Given the description of an element on the screen output the (x, y) to click on. 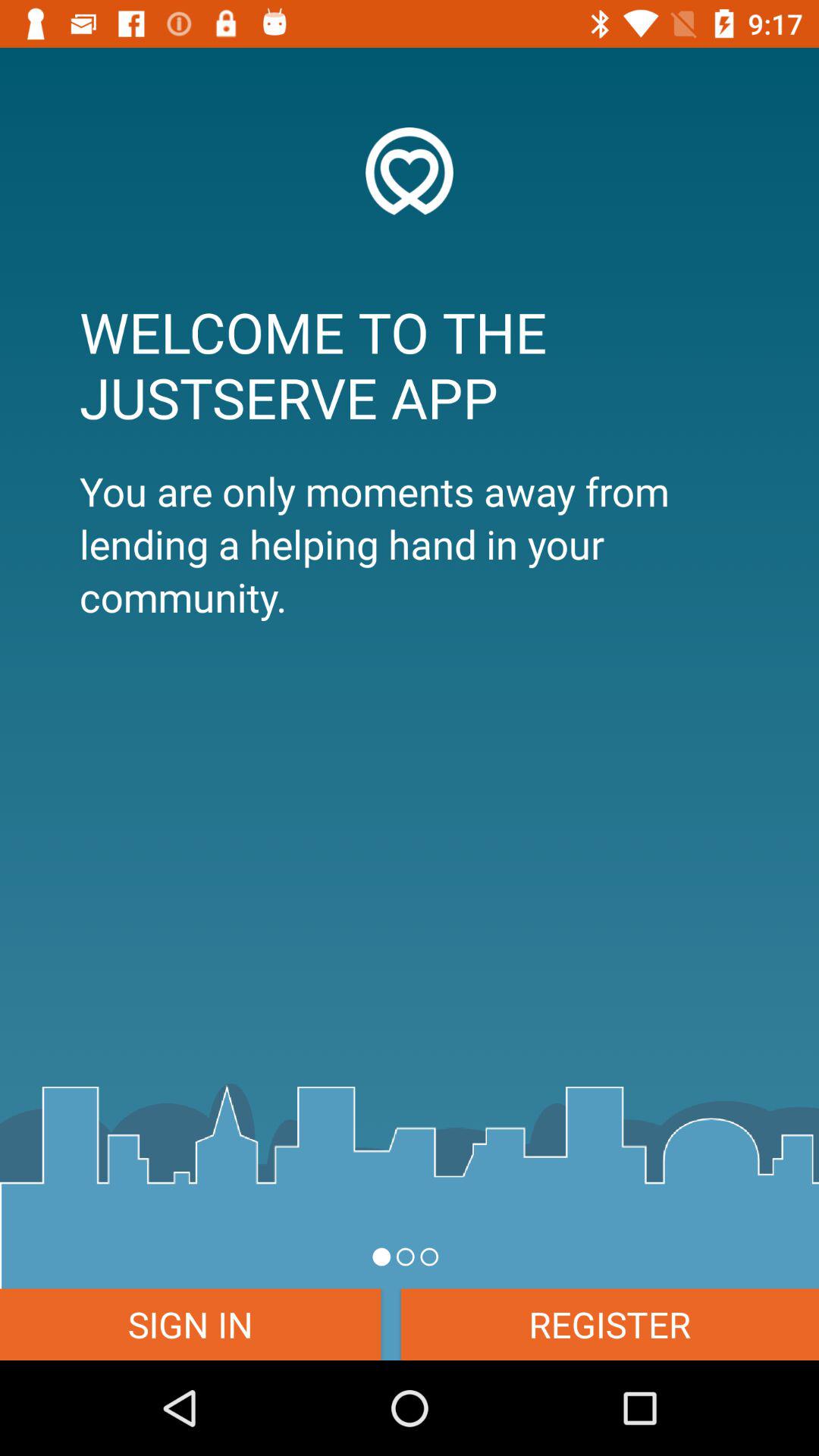
choose item next to the sign in icon (609, 1324)
